Given the description of an element on the screen output the (x, y) to click on. 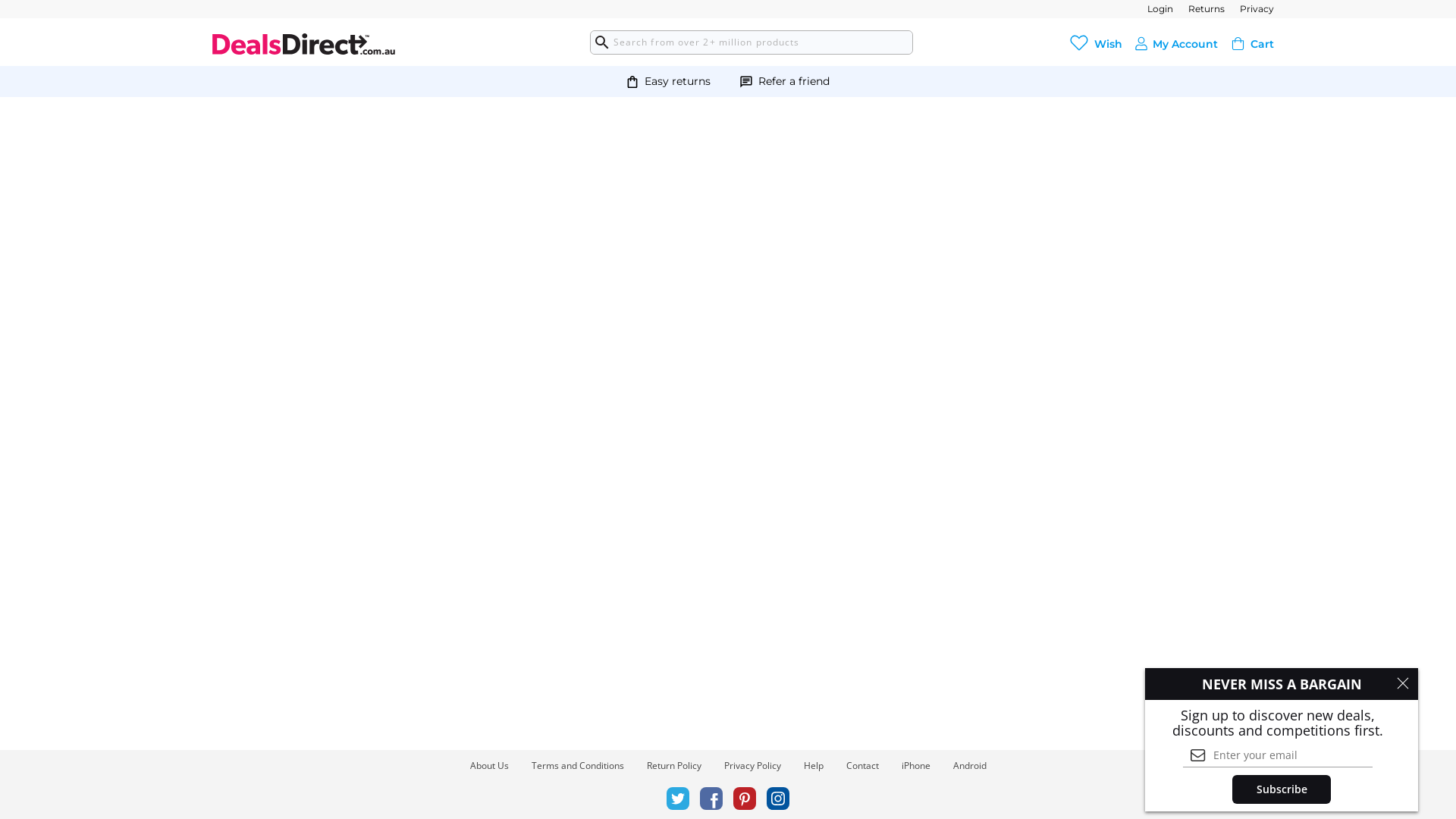
Privacy Policy Element type: text (751, 765)
About Us Element type: text (489, 765)
Help Element type: text (813, 765)
  Element type: text (1140, 43)
Return Policy Element type: text (673, 765)
Wish Element type: text (1108, 42)
Contact Element type: text (862, 765)
Privacy Element type: text (1256, 9)
Android Element type: text (968, 765)
iPhone Element type: text (914, 765)
Refer a friend Element type: text (793, 81)
Terms and Conditions Element type: text (576, 765)
Easy returns Element type: text (677, 81)
Subscribe Element type: text (1281, 789)
Cart Element type: text (1262, 42)
My Account Element type: text (1184, 42)
Login Element type: text (1160, 9)
Returns Element type: text (1206, 9)
